Given the description of an element on the screen output the (x, y) to click on. 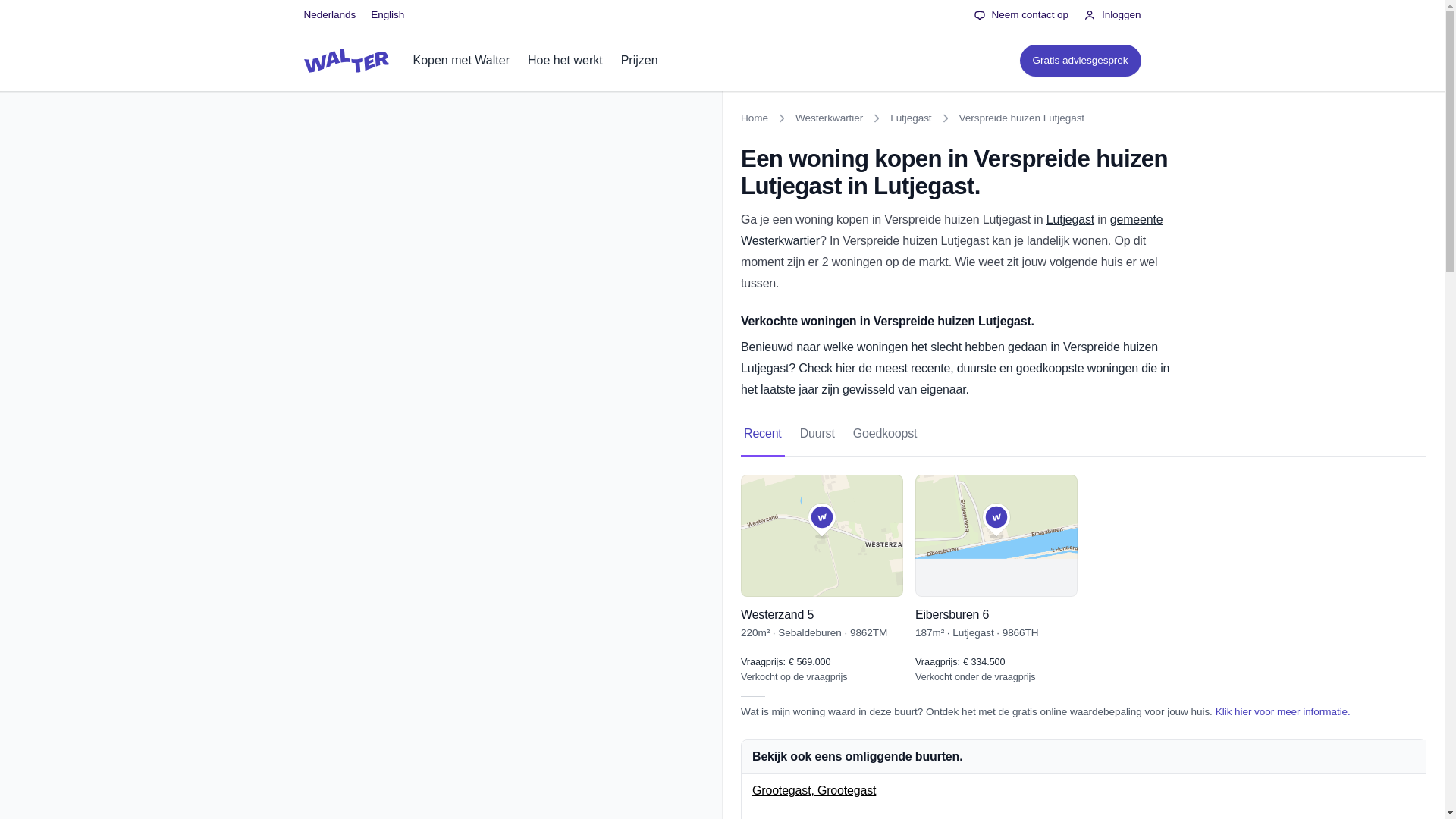
Nederlands (328, 14)
Verspreide huizen Lutjegast (1021, 117)
Gratis adviesgesprek (1083, 434)
Neem contact op (1079, 60)
Lutjegast (1021, 14)
Recent (1070, 219)
English (762, 434)
Nederlands (387, 14)
Recent (328, 14)
